Given the description of an element on the screen output the (x, y) to click on. 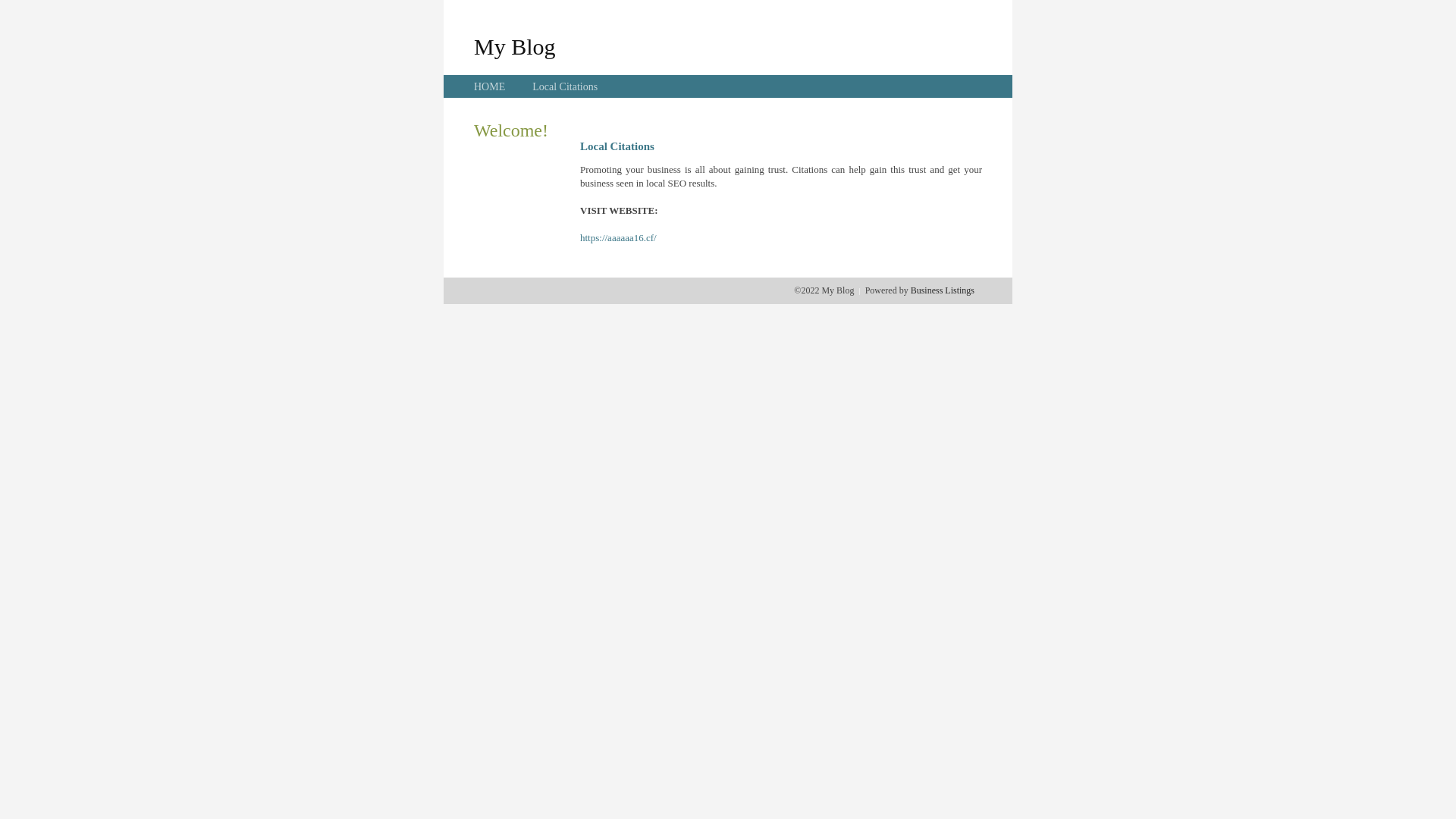
Local Citations Element type: text (564, 86)
https://aaaaaa16.cf/ Element type: text (618, 237)
My Blog Element type: text (514, 46)
Business Listings Element type: text (942, 290)
HOME Element type: text (489, 86)
